Given the description of an element on the screen output the (x, y) to click on. 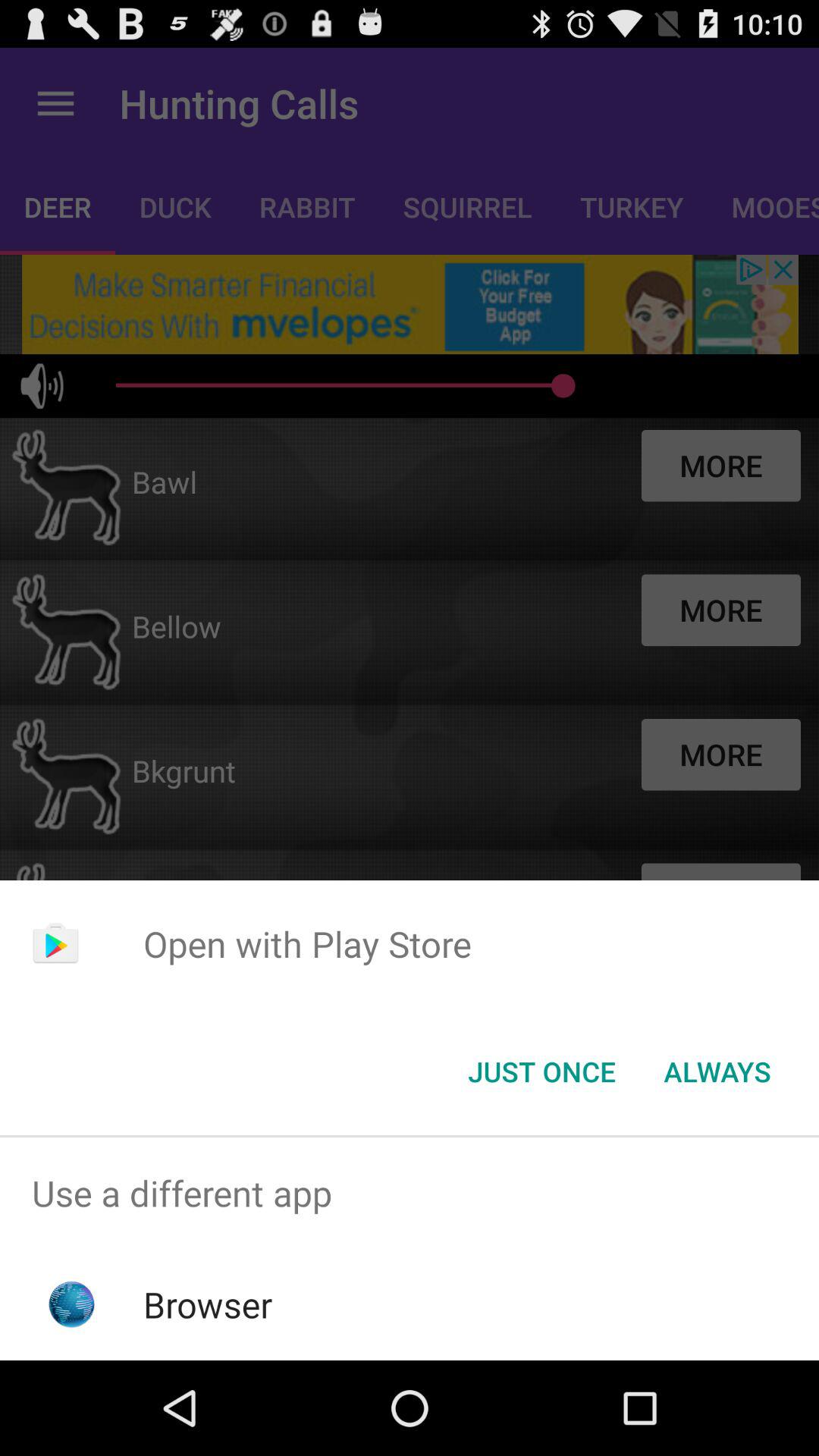
turn off the item next to just once icon (717, 1071)
